Given the description of an element on the screen output the (x, y) to click on. 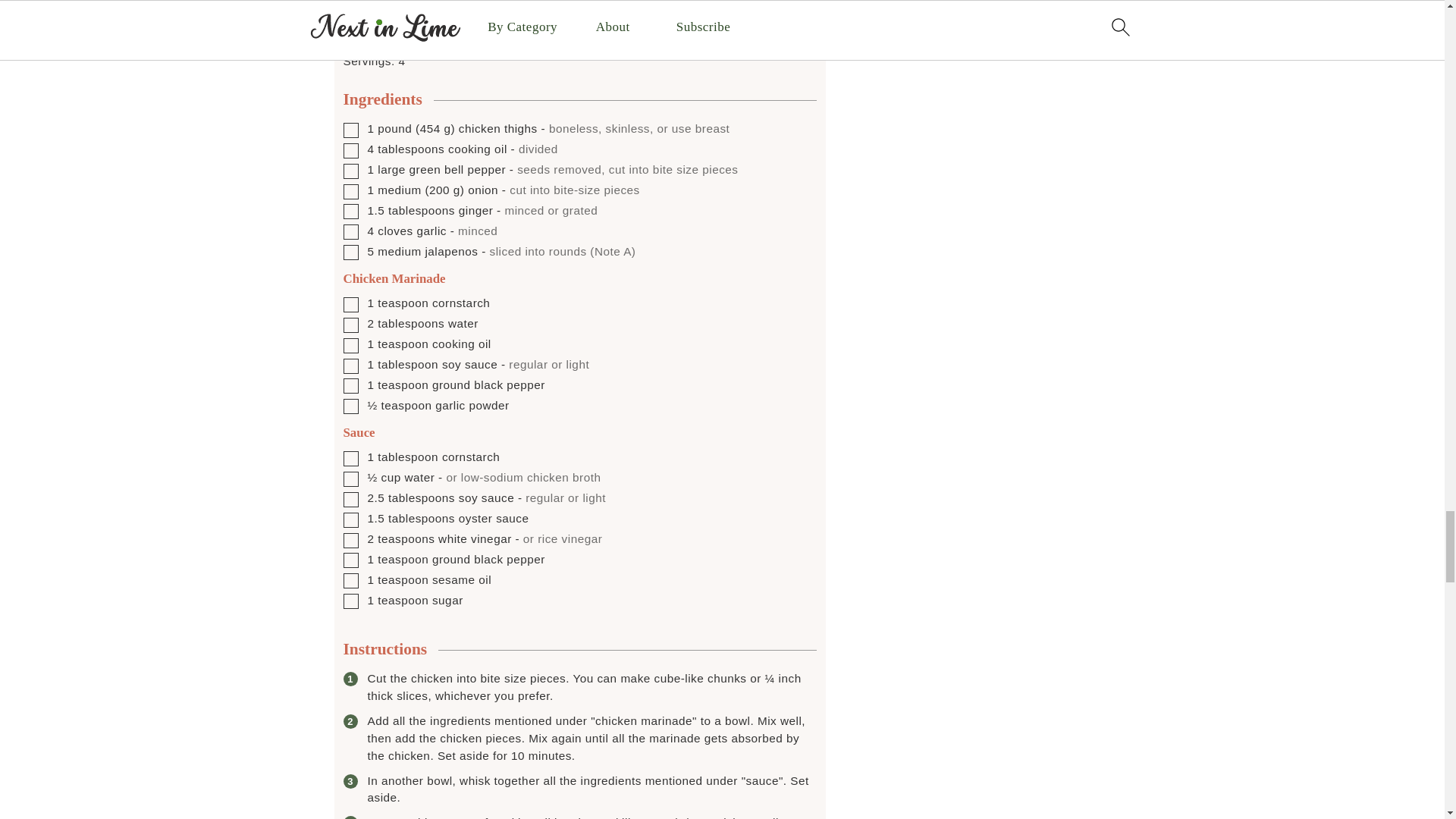
rice side (401, 18)
